Given the description of an element on the screen output the (x, y) to click on. 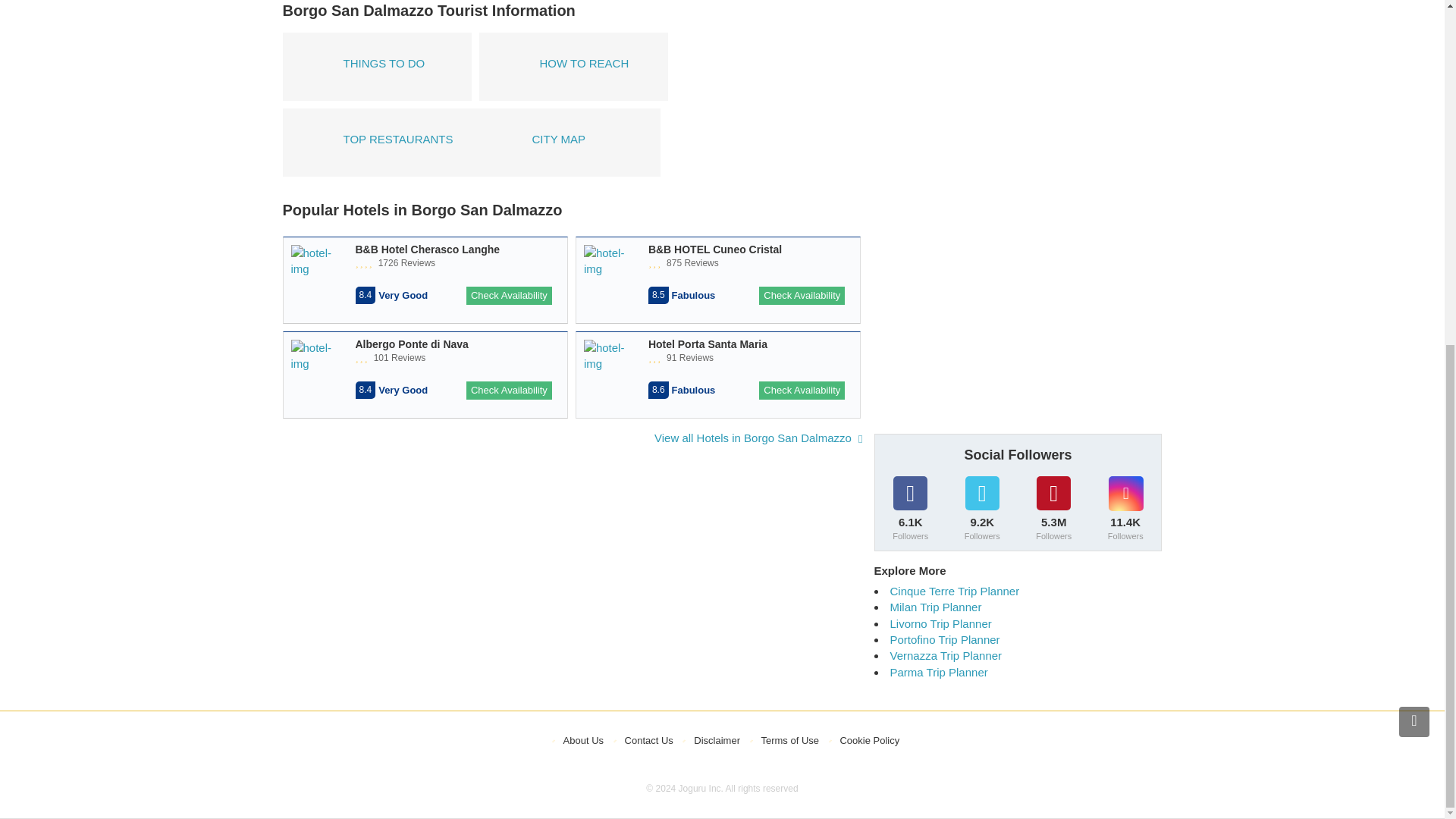
Check Availability (508, 390)
View all Hotels in Borgo San Dalmazzo (758, 437)
HOW TO REACH (573, 66)
CITY MAP (566, 142)
Check Availability (801, 295)
TOP RESTAURANTS (376, 142)
Check Availability (801, 390)
Check Availability (508, 295)
Things To Do in Borgo San Dalmazzo (376, 66)
Top Restaurants In Borgo San Dalmazzo (376, 142)
How to Reach Borgo San Dalmazzo (573, 66)
City Map of Borgo San Dalmazzo (566, 142)
THINGS TO DO (376, 66)
